Given the description of an element on the screen output the (x, y) to click on. 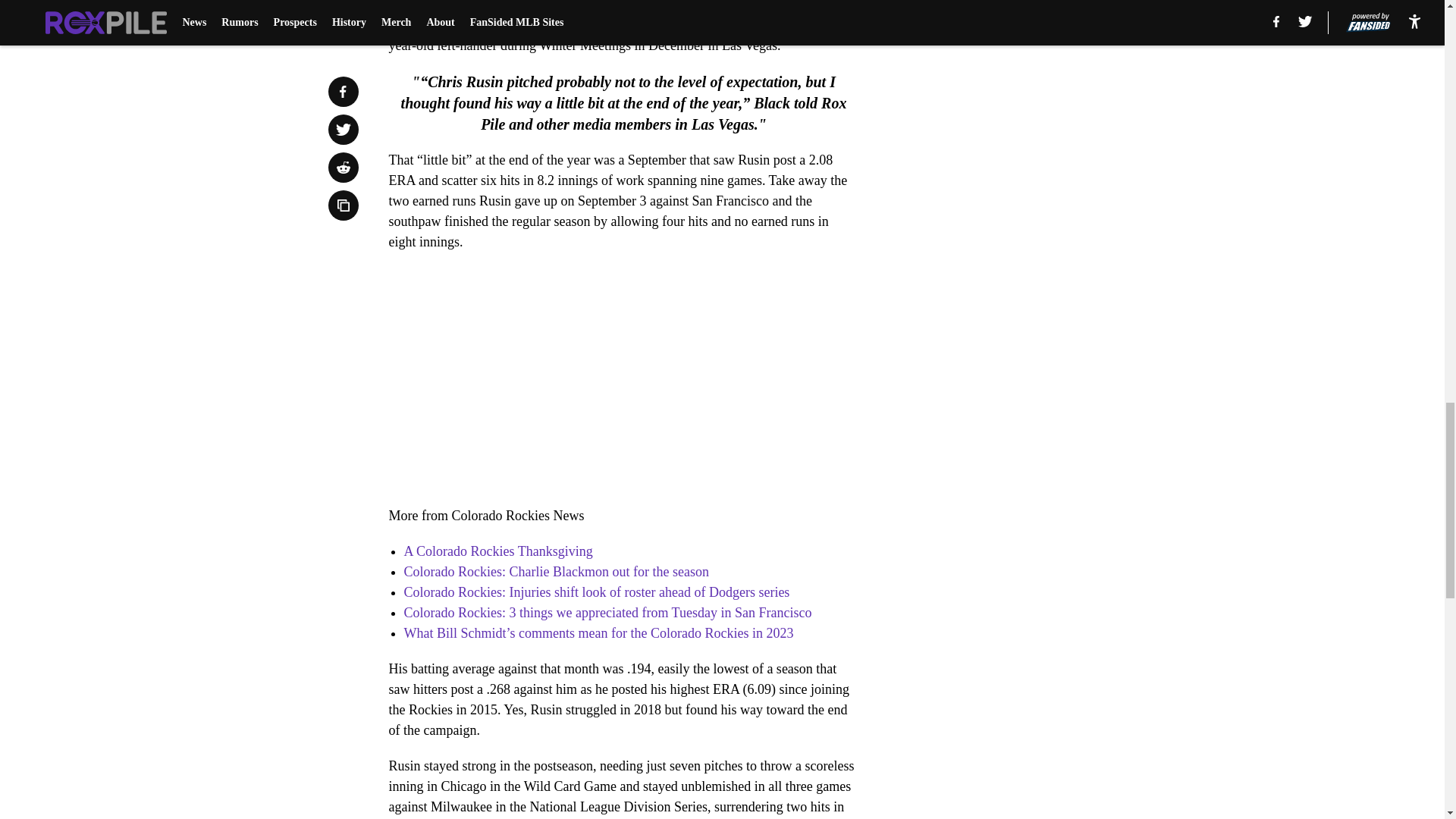
in this article (638, 24)
Colorado Rockies: Charlie Blackmon out for the season (555, 571)
A Colorado Rockies Thanksgiving (497, 550)
